Given the description of an element on the screen output the (x, y) to click on. 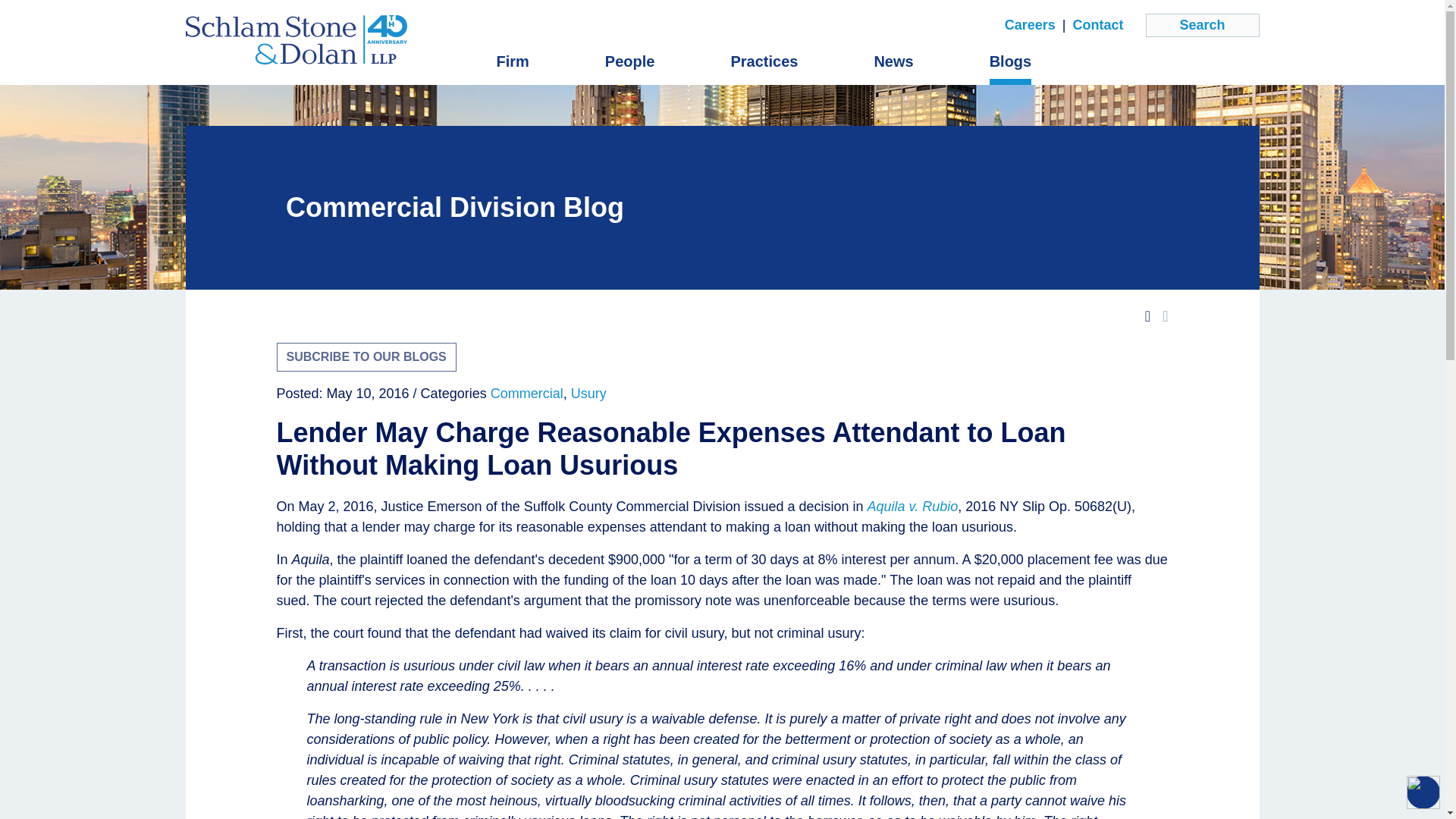
Commercial (526, 393)
Contact (1096, 25)
Careers (1029, 25)
Accessibility Menu (1422, 792)
Blogs (1011, 60)
Practices (763, 60)
Aquila v. Rubio (912, 506)
News (892, 60)
SUBCRIBE TO OUR BLOGS (365, 357)
share (1164, 315)
Usury (588, 393)
People (630, 60)
Firm (512, 60)
Search Input (1201, 24)
